Given the description of an element on the screen output the (x, y) to click on. 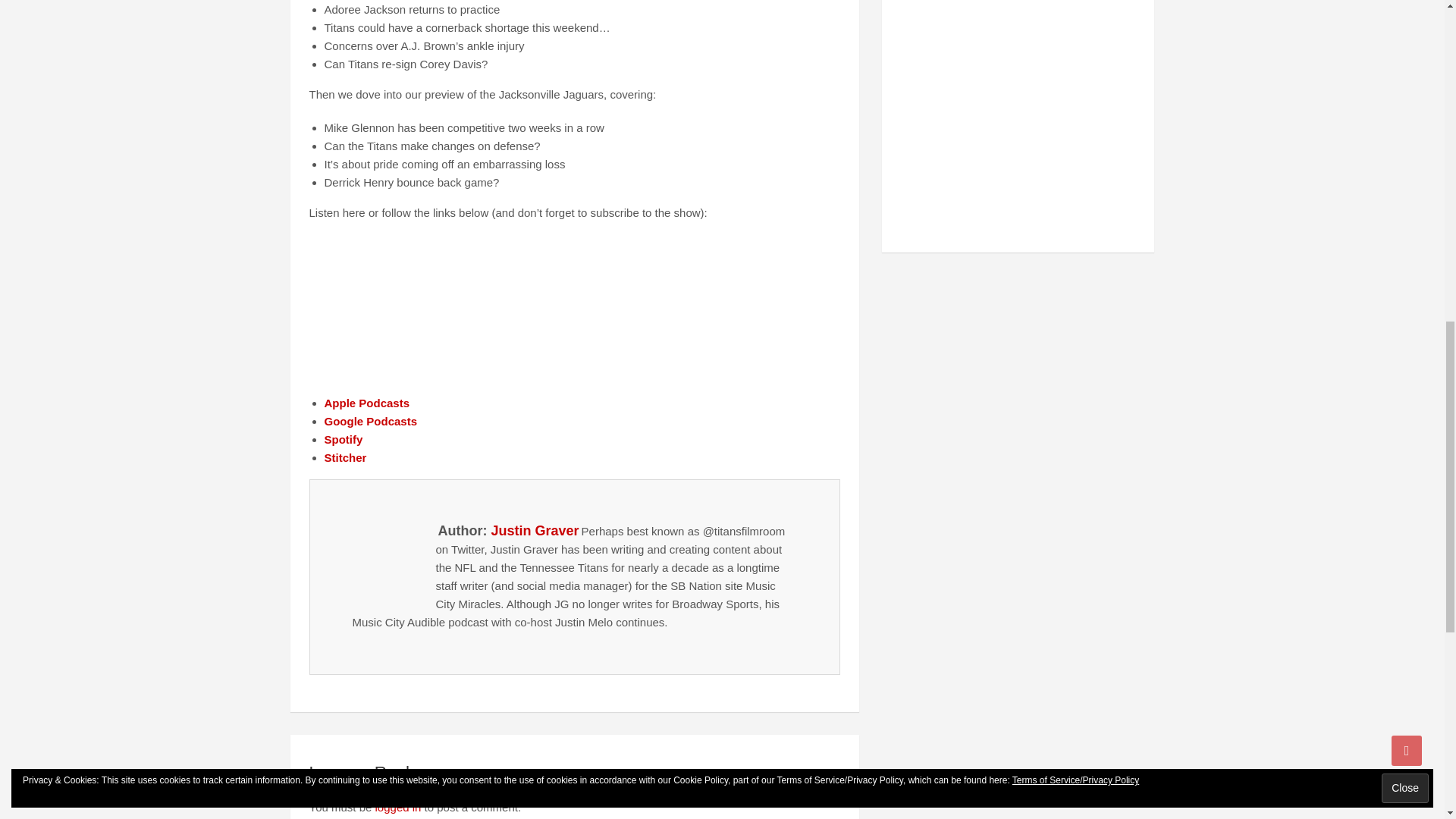
Advertisement (1007, 119)
